Given the description of an element on the screen output the (x, y) to click on. 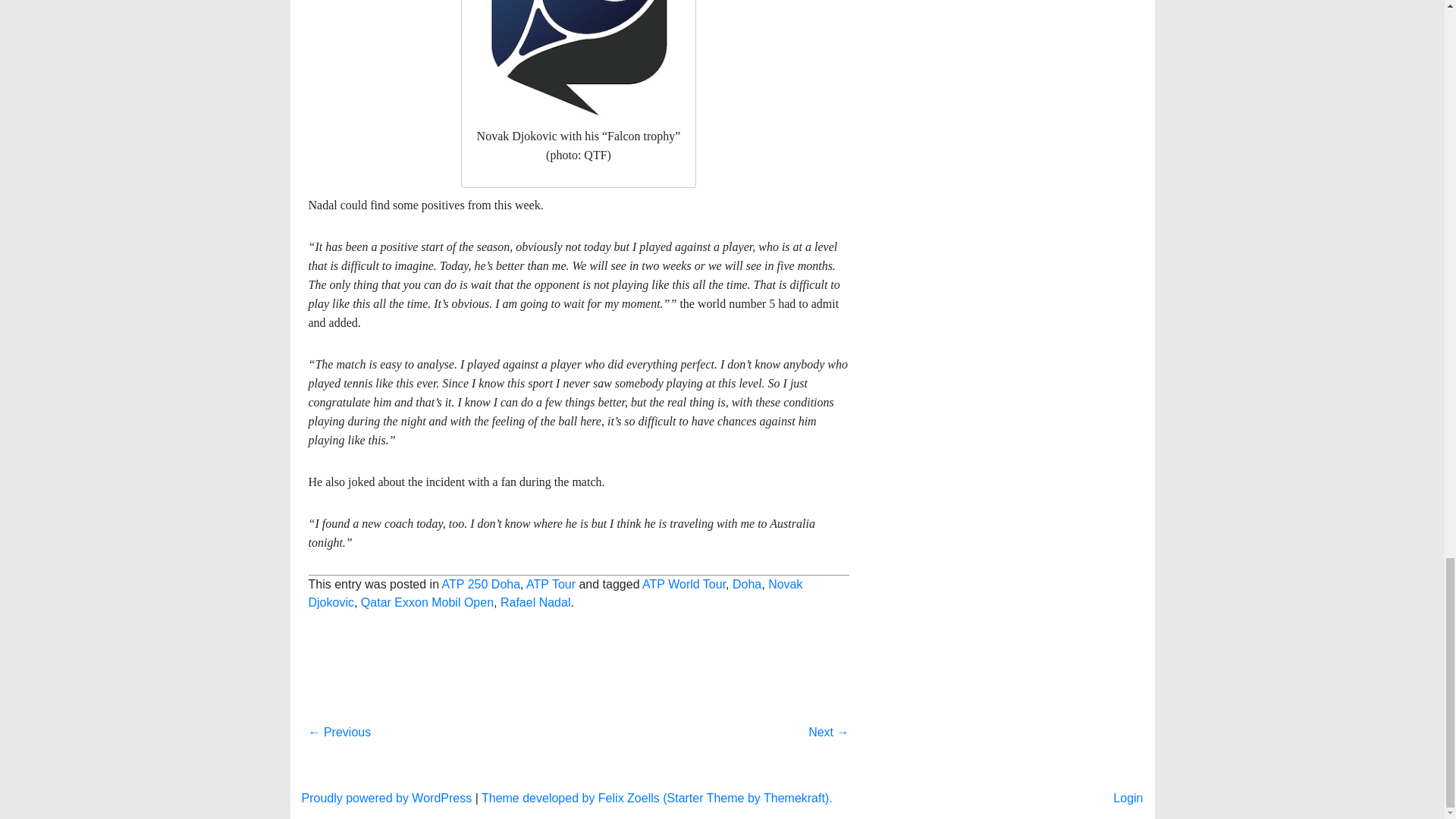
Qatar Exxon Mobil Open (427, 602)
Rafael Nadal (535, 602)
ATP 250 Doha (480, 584)
Login (1127, 798)
ATP Tour (550, 584)
Proudly powered by WordPress (386, 797)
Doha (746, 584)
Novak Djokovic (554, 593)
ATP World Tour (683, 584)
